Given the description of an element on the screen output the (x, y) to click on. 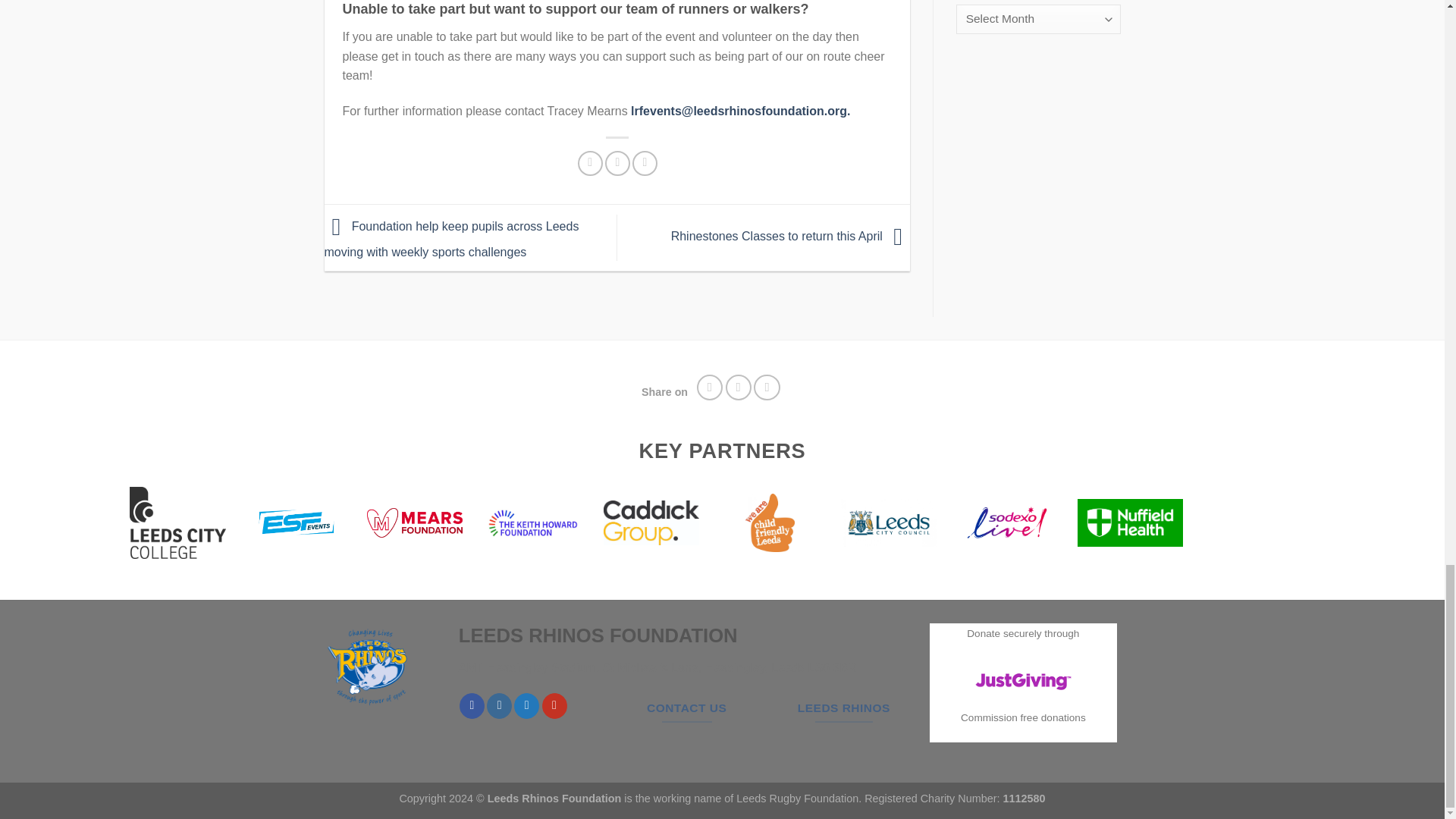
Share on Facebook (590, 163)
Share on Facebook (710, 387)
Share on Twitter (738, 387)
Email to a Friend (767, 387)
Email to a Friend (644, 163)
Share on Twitter (617, 163)
